Given the description of an element on the screen output the (x, y) to click on. 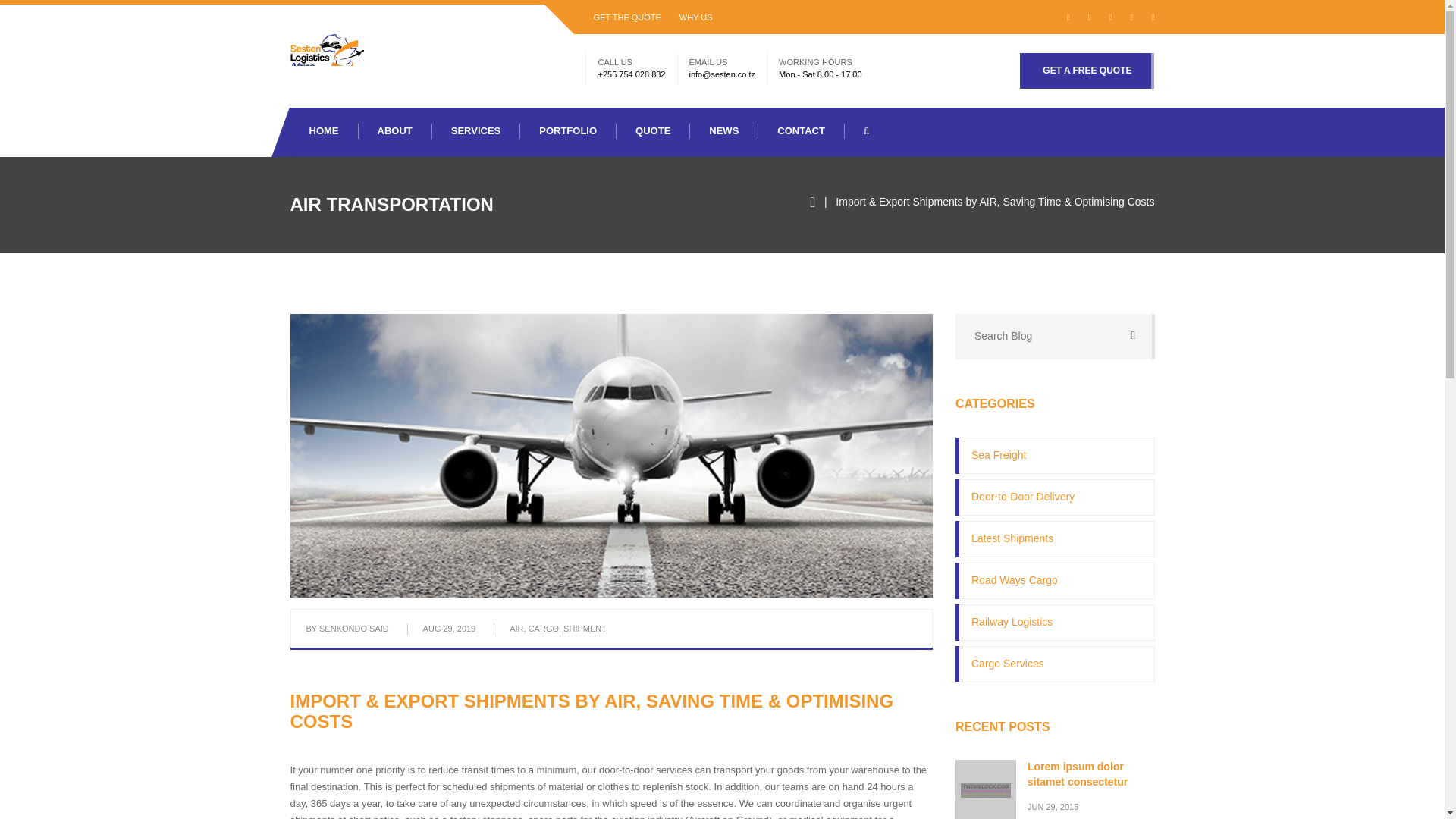
Sea Freight (1055, 455)
Door-to-Door Delivery (1055, 497)
GET THE QUOTE (626, 16)
Railway Logistics (1055, 622)
SERVICES (476, 130)
QUOTE (652, 130)
CONTACT (801, 130)
WHY US (696, 16)
Road Ways Cargo (1055, 580)
GET A FREE QUOTE (1087, 70)
Cargo Services (1055, 664)
HOME (323, 130)
Lorem ipsum dolor sitamet consectetur (1127, 786)
NEWS (724, 130)
ABOUT (394, 130)
